Given the description of an element on the screen output the (x, y) to click on. 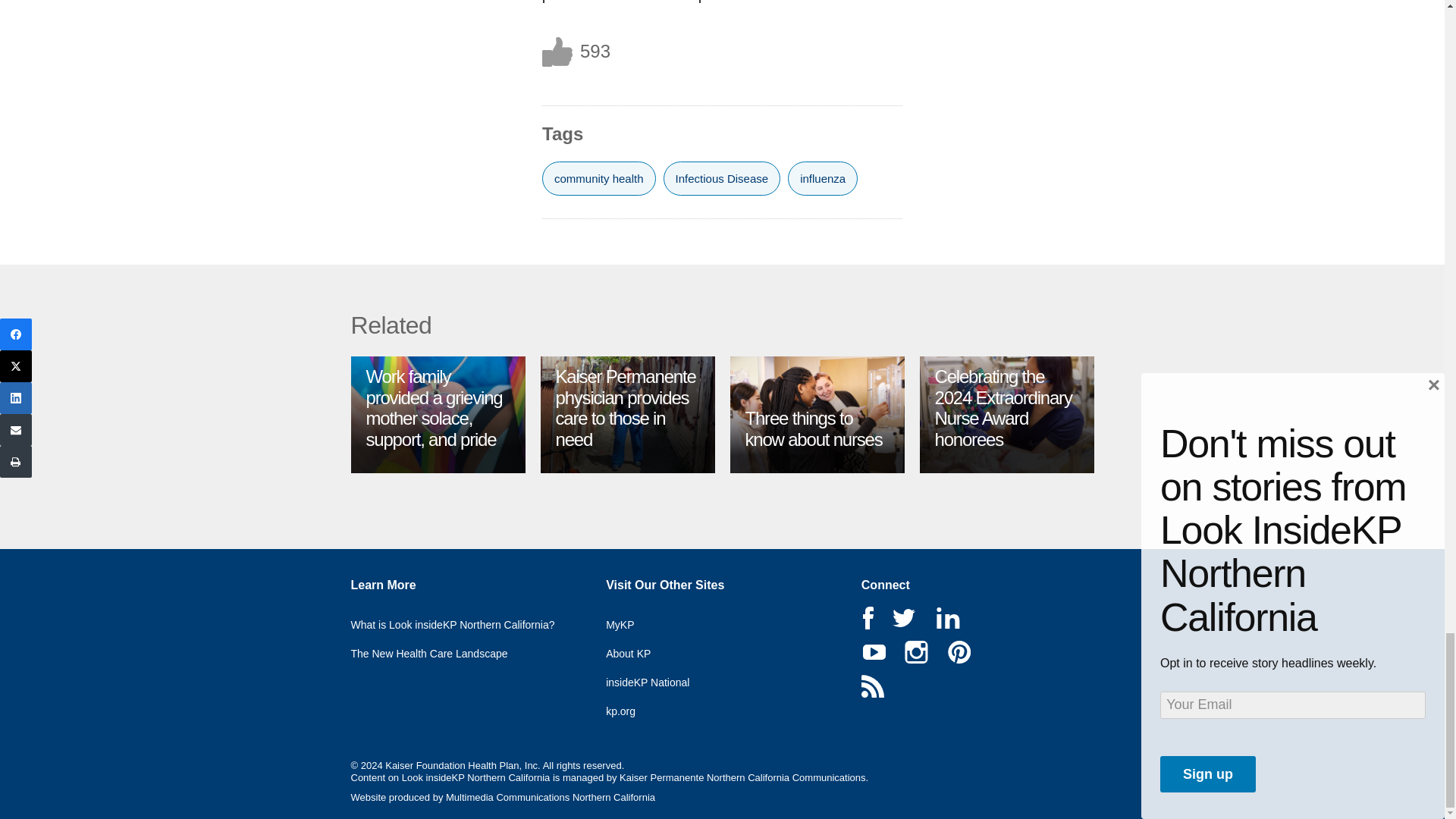
influenza (822, 178)
YouTube (873, 651)
Twitter (904, 617)
Kaiser Permanente physician provides care to those in need (624, 407)
Celebrating the 2024 Extraordinary Nurse Award honorees (1002, 407)
Kaiser Permanente physician provides care to those in need (624, 407)
Three things to know about nurses (813, 428)
Infectious Disease (721, 178)
Celebrating the 2024 Extraordinary Nurse Award honorees (1002, 407)
What is Look insideKP Northern California? (463, 620)
insideKP National (658, 678)
The New Health Care Landscape (439, 649)
community health (598, 178)
